Given the description of an element on the screen output the (x, y) to click on. 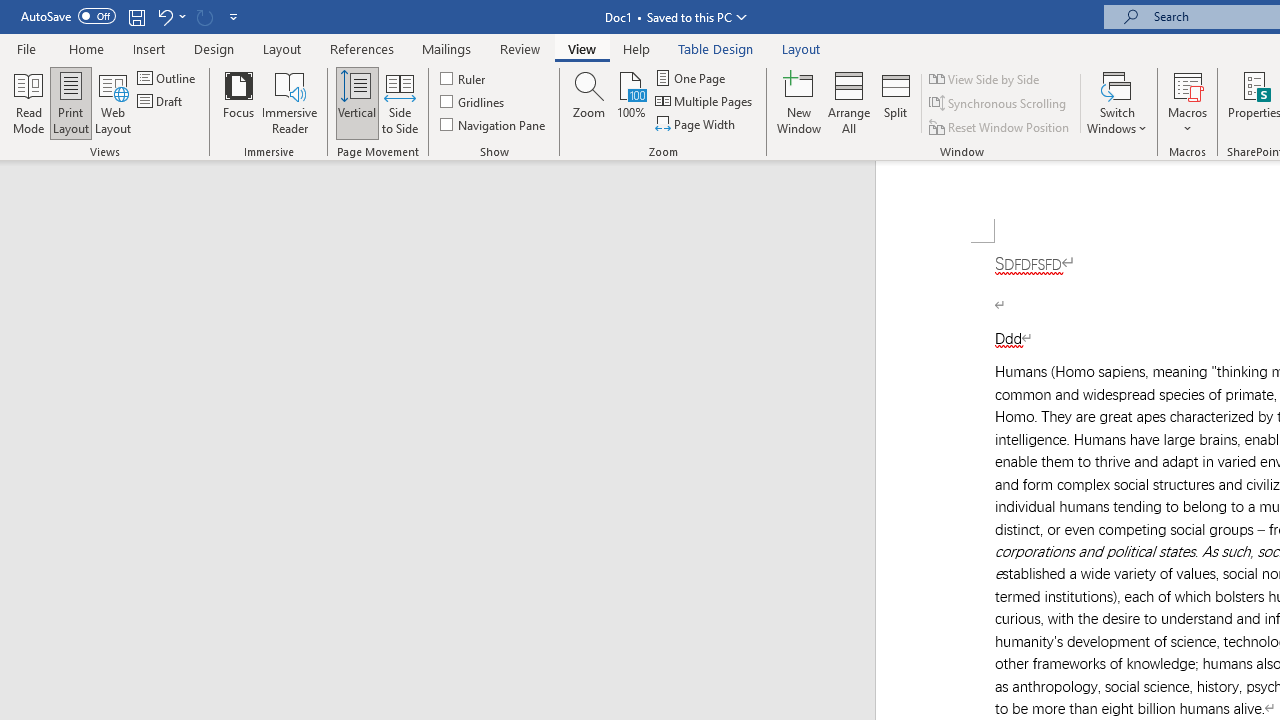
Gridlines (473, 101)
Ruler (463, 78)
Arrange All (848, 102)
View Side by Side (985, 78)
Macros (1187, 102)
New Window (799, 102)
Undo Apply Quick Style Set (170, 15)
